Given the description of an element on the screen output the (x, y) to click on. 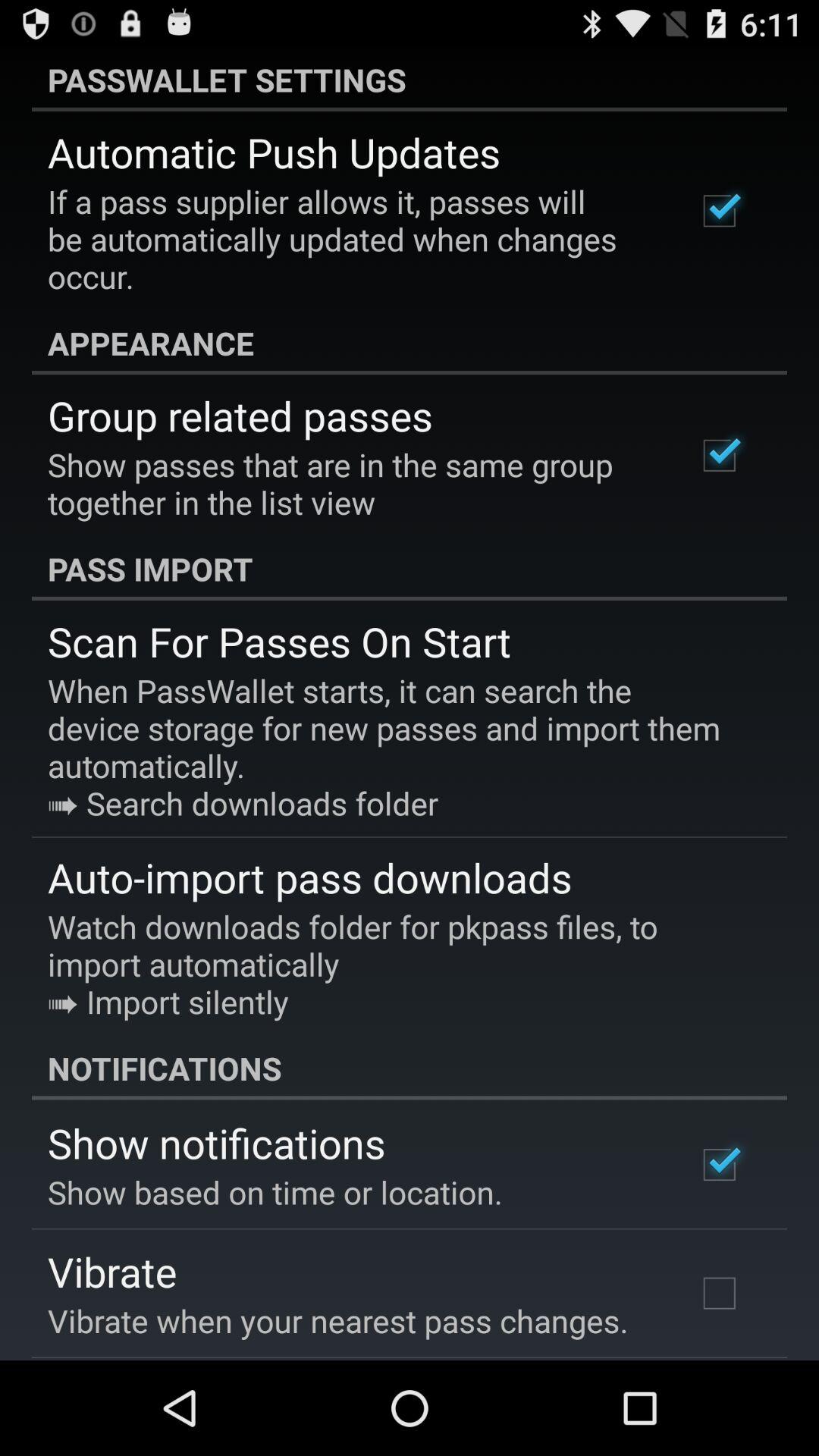
click automatic push updates (273, 151)
